Given the description of an element on the screen output the (x, y) to click on. 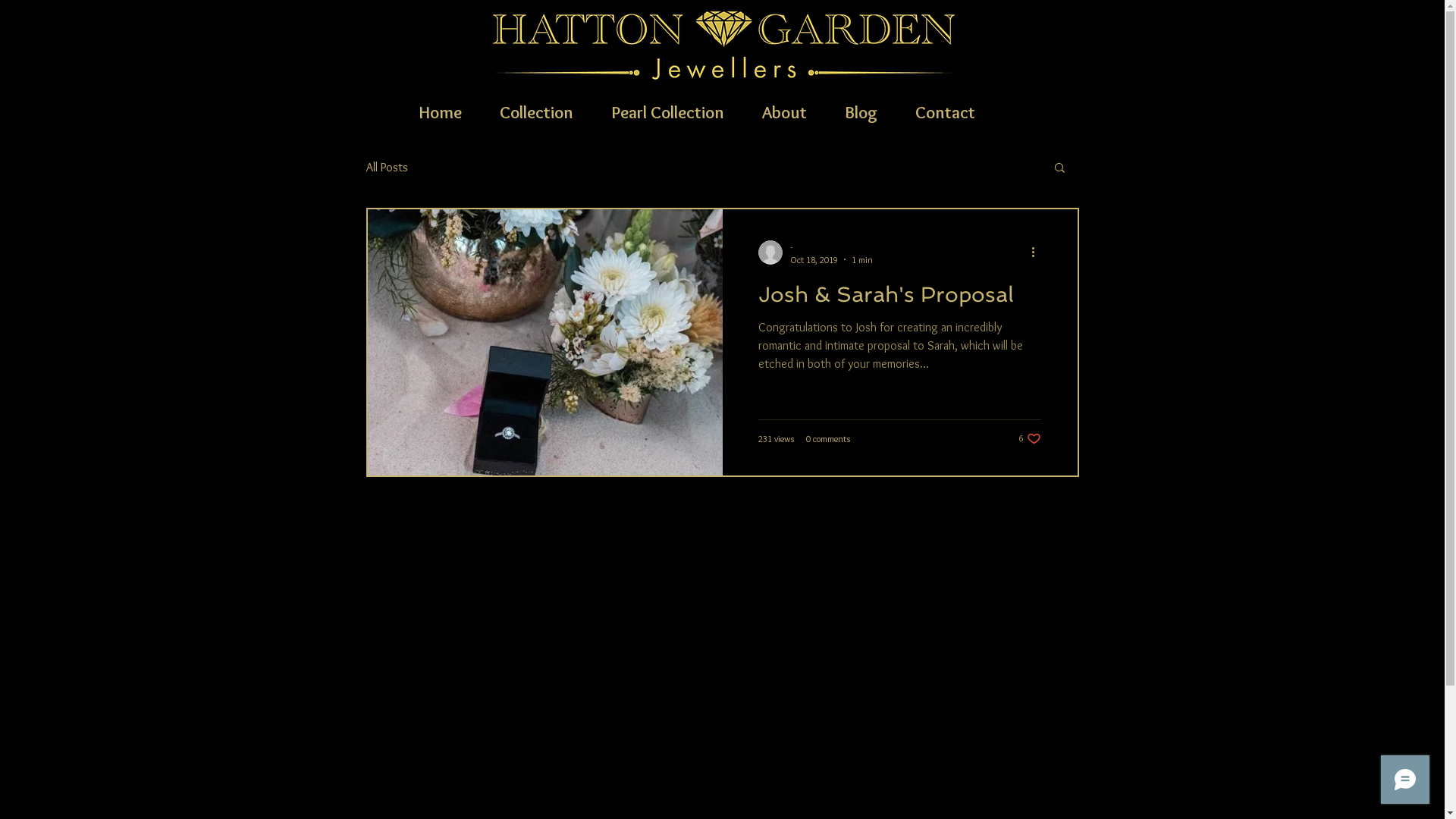
Home Element type: text (440, 110)
Josh & Sarah's Proposal Element type: text (899, 298)
All Posts Element type: text (386, 166)
Capture.PNG Element type: hover (722, 43)
0 comments Element type: text (828, 438)
- Element type: text (831, 246)
Contact Element type: text (945, 110)
Blog Element type: text (860, 110)
6 likes. Post not marked as liked
6 Element type: text (1029, 438)
About Element type: text (784, 110)
